Given the description of an element on the screen output the (x, y) to click on. 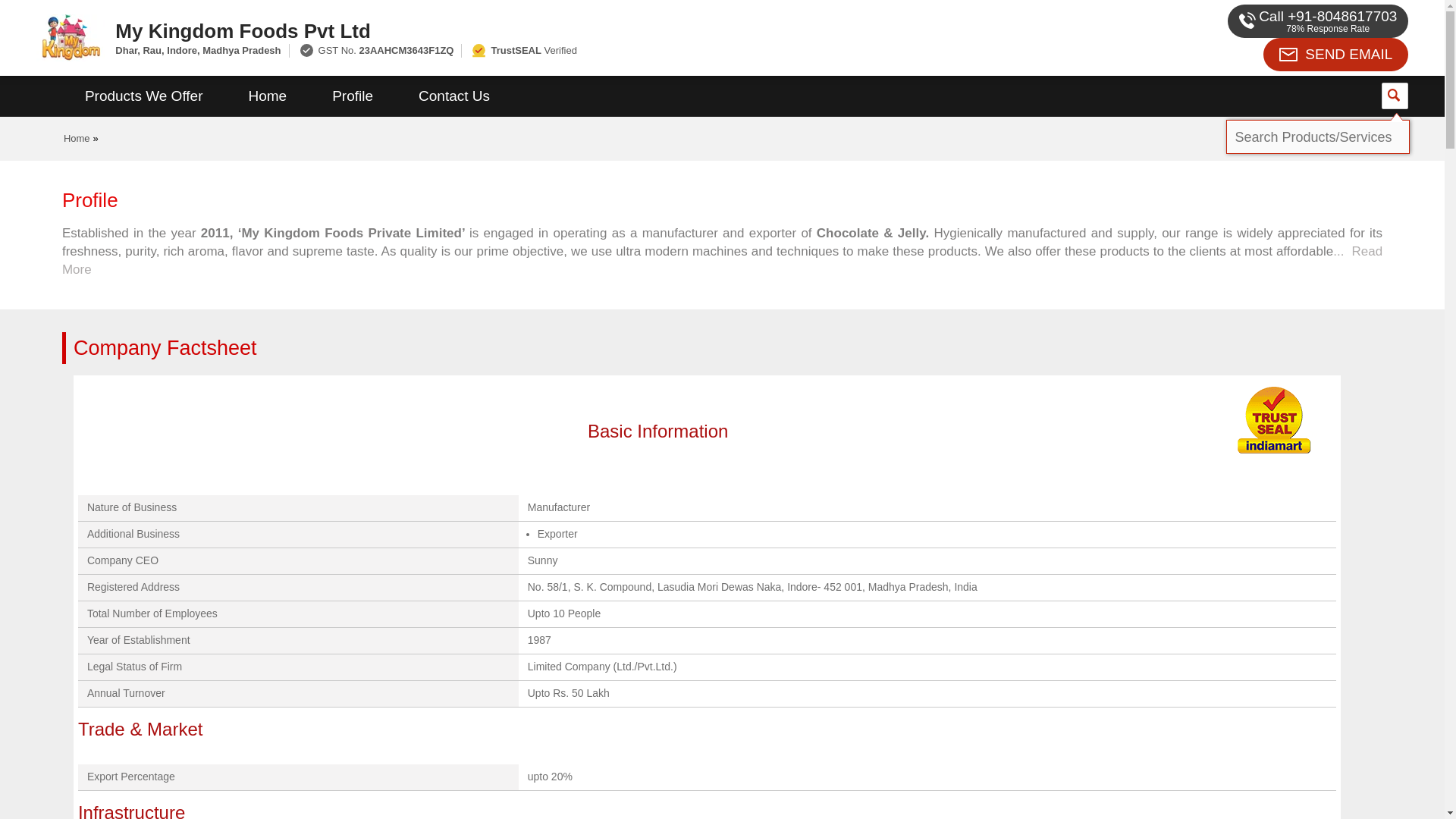
Products We Offer (143, 96)
Contact Us (454, 96)
Home (267, 96)
Profile (352, 96)
Home (77, 138)
My Kingdom Foods Pvt Ltd (552, 31)
